Given the description of an element on the screen output the (x, y) to click on. 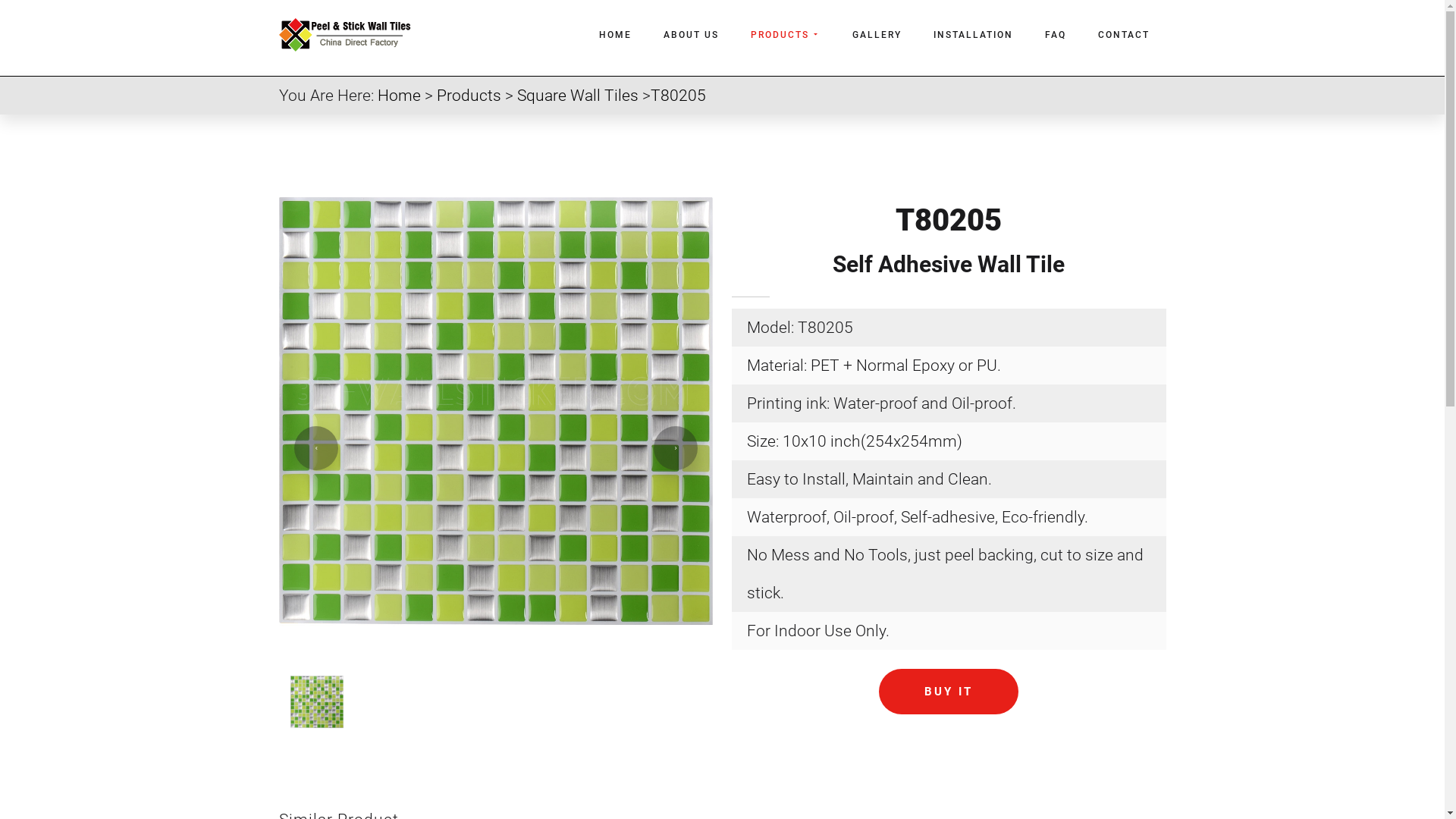
BUY IT Element type: text (948, 691)
T80205 Element type: text (678, 95)
GALLERY Element type: text (876, 34)
PRODUCTS Element type: text (785, 34)
CONTACT Element type: text (1123, 34)
Square Wall Tiles Element type: text (577, 95)
FAQ Element type: text (1055, 34)
Products Element type: text (468, 95)
INSTALLATION Element type: text (973, 34)
HOME Element type: text (615, 34)
ABOUT US Element type: text (691, 34)
Home Element type: text (398, 95)
